Given the description of an element on the screen output the (x, y) to click on. 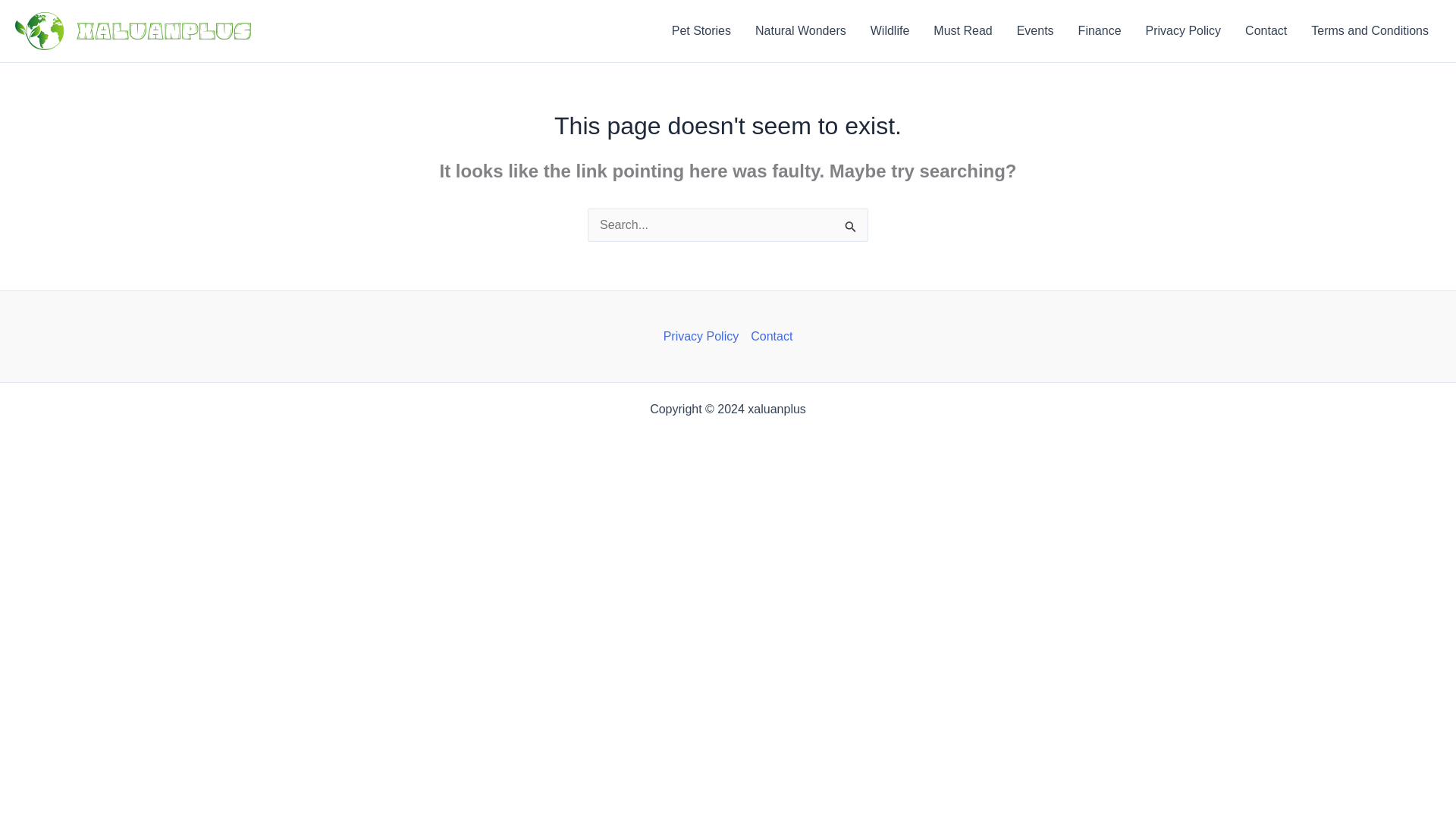
Wildlife (890, 30)
Pet Stories (700, 30)
Natural Wonders (800, 30)
Contact (1265, 30)
Contact (768, 336)
Finance (1099, 30)
Privacy Policy (1183, 30)
Events (1034, 30)
Terms and Conditions (1369, 30)
Must Read (962, 30)
